Given the description of an element on the screen output the (x, y) to click on. 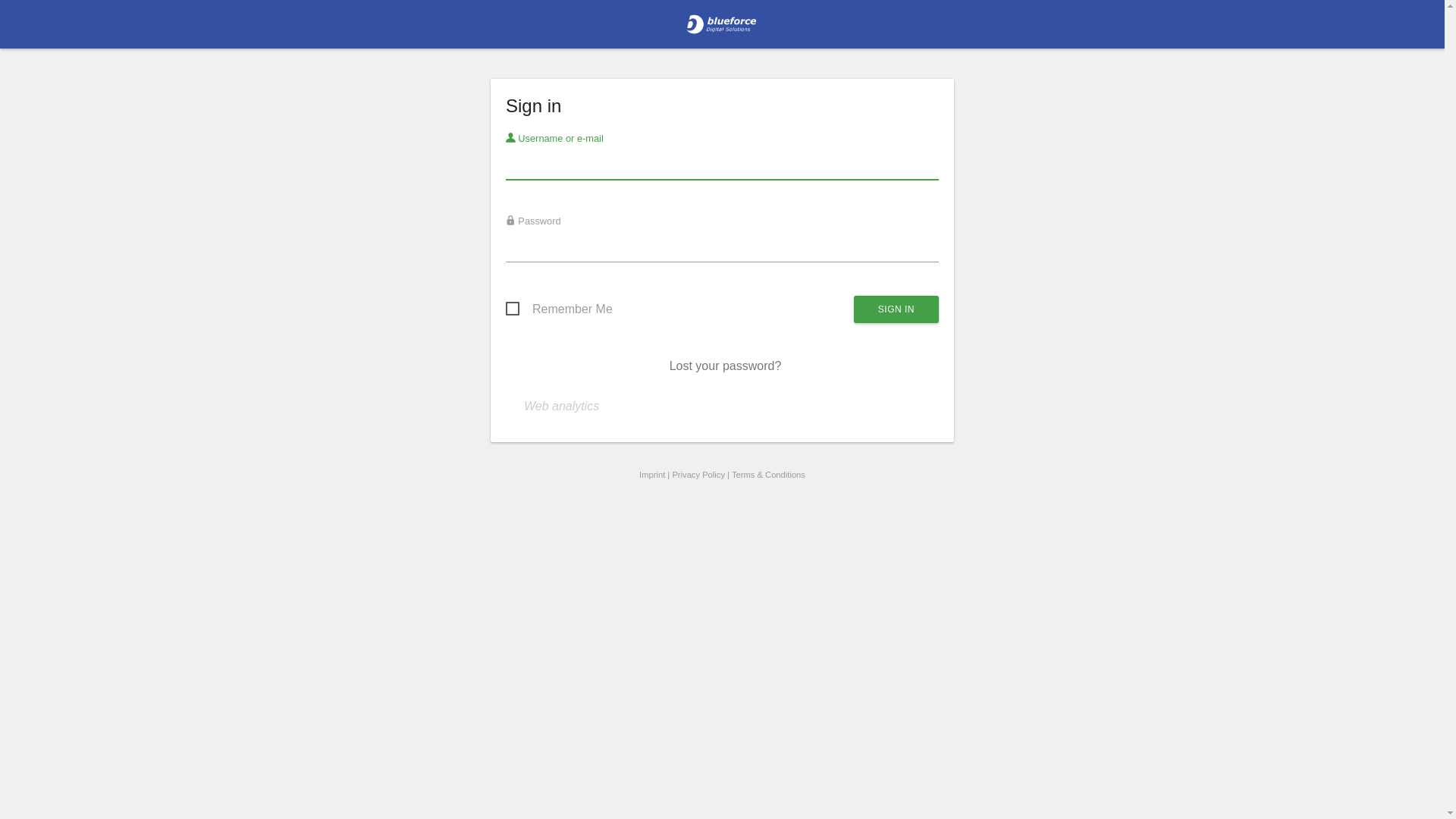
Lost your password? Element type: text (725, 365)
Privacy Policy Element type: text (697, 474)
Powered by Matomo Element type: hover (722, 27)
Sign in Element type: text (895, 309)
Terms & Conditions Element type: text (768, 474)
Web analytics Element type: text (561, 405)
Imprint Element type: text (652, 474)
